Given the description of an element on the screen output the (x, y) to click on. 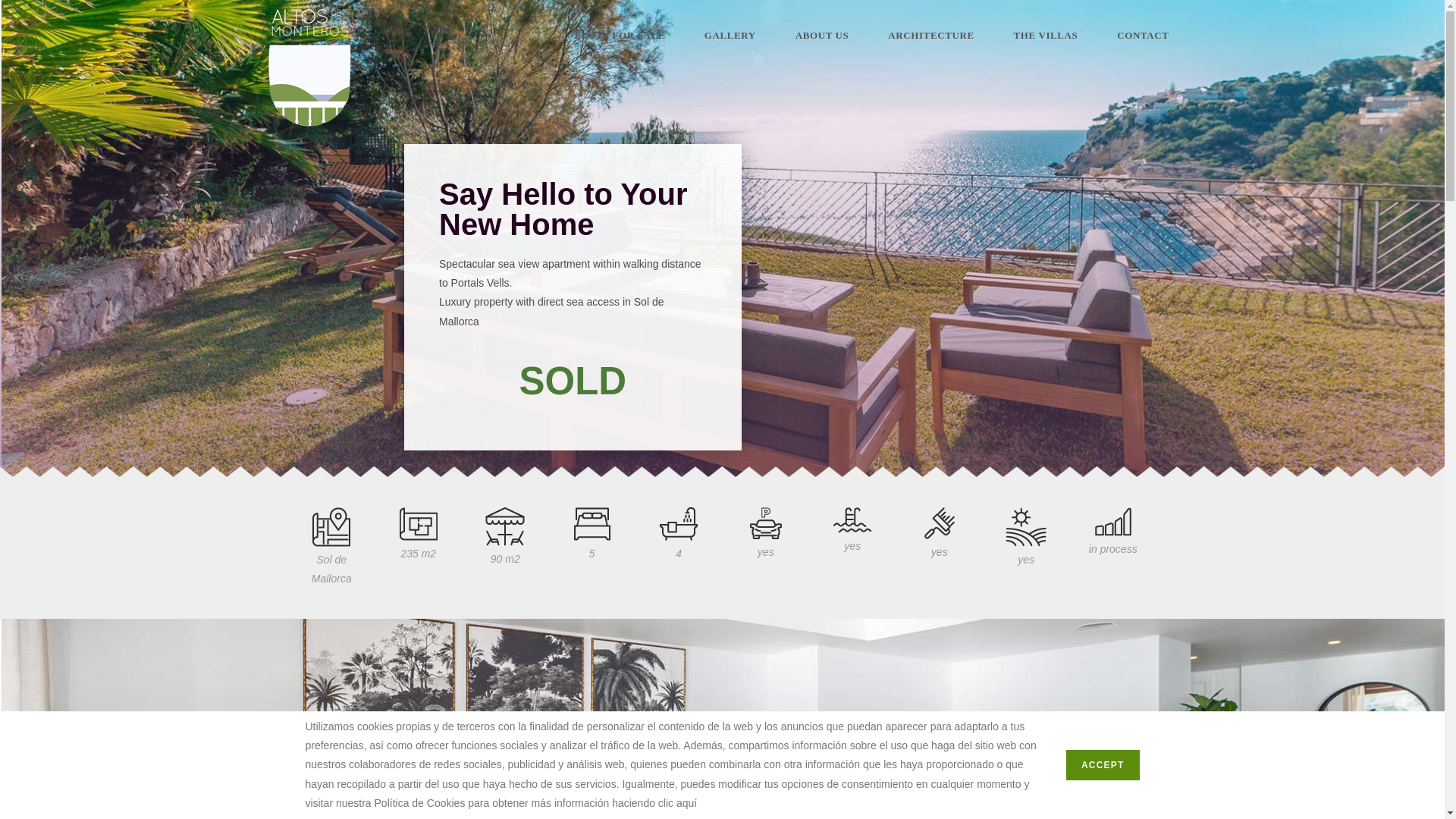
ABOUT US (822, 35)
ARCHITECTURE (929, 35)
PLOTS FOR SALE (619, 35)
GALLERY (730, 35)
CONTACT (1142, 35)
THE VILLAS (1045, 35)
